Given the description of an element on the screen output the (x, y) to click on. 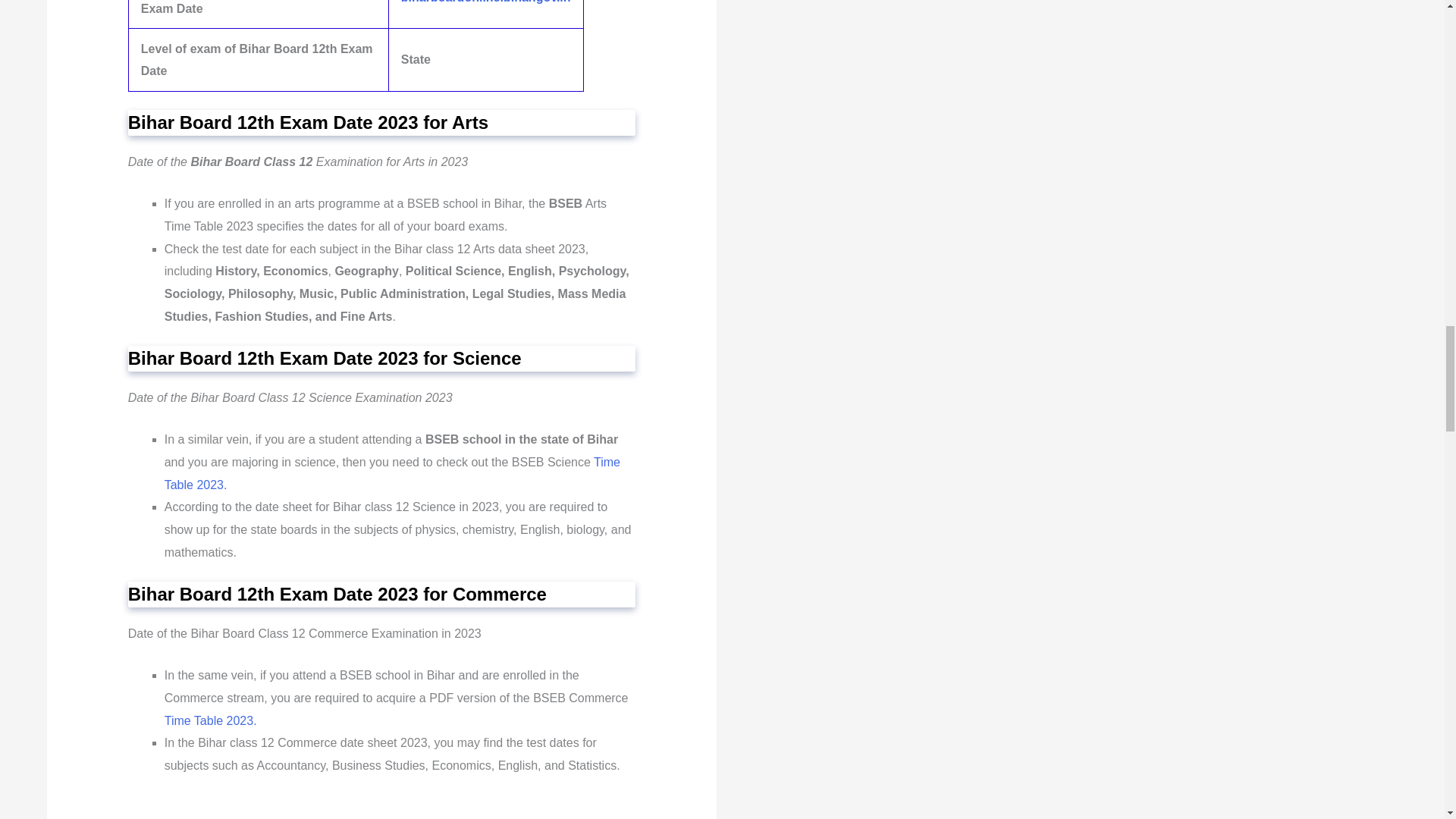
Time Table 2023. (392, 473)
Time Table 2023. (210, 720)
biharboardonline.bihar.gov.in (485, 2)
